Given the description of an element on the screen output the (x, y) to click on. 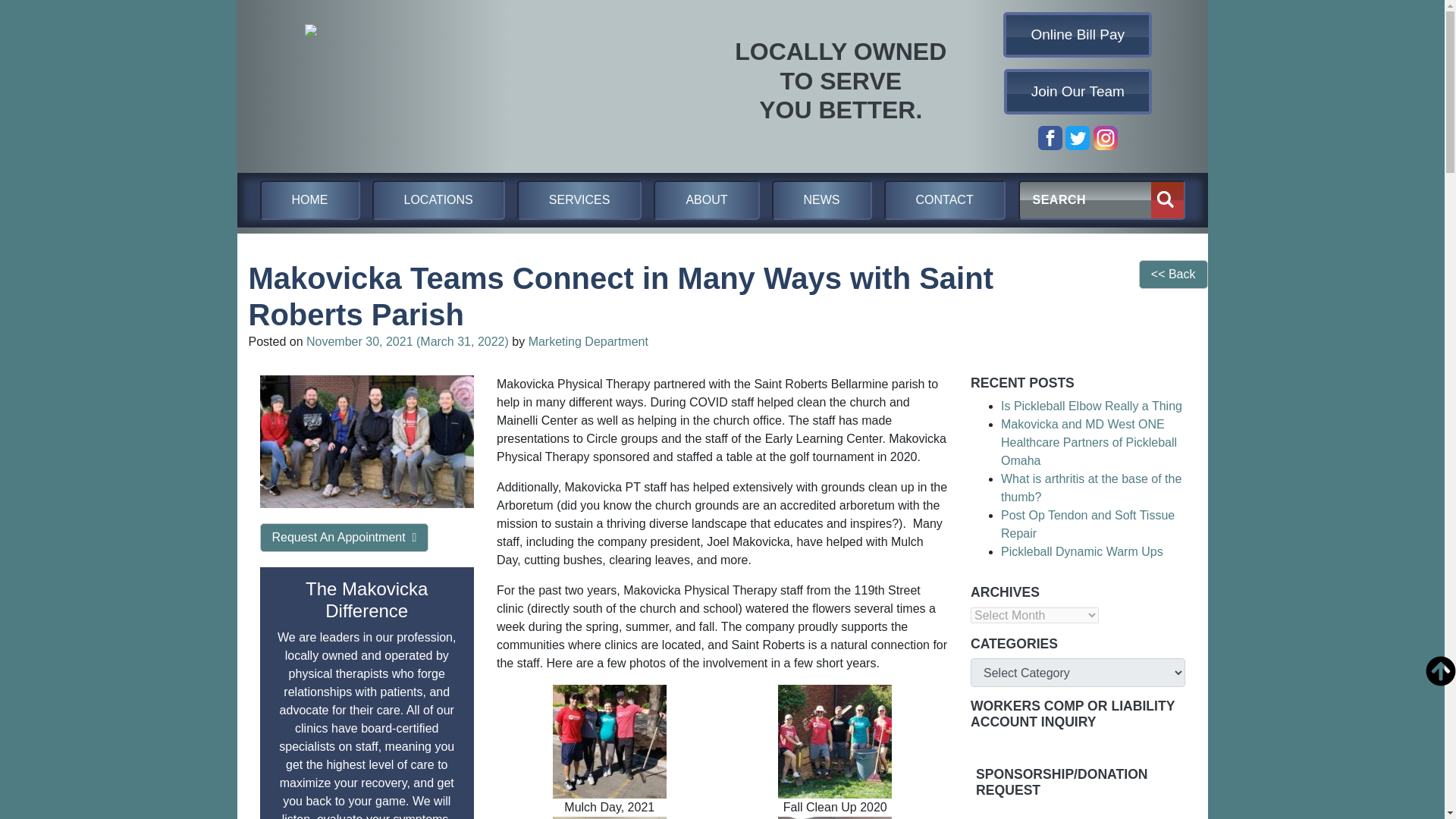
ABOUT (706, 199)
Online Bill Pay (1077, 34)
LOCATIONS (437, 199)
Join Our Team (1077, 91)
SERVICES (579, 199)
NEWS (821, 199)
Join Our Team (1077, 91)
HOME (309, 199)
Make a Payment (1077, 34)
Makovicka Physical Therapy (459, 81)
